Given the description of an element on the screen output the (x, y) to click on. 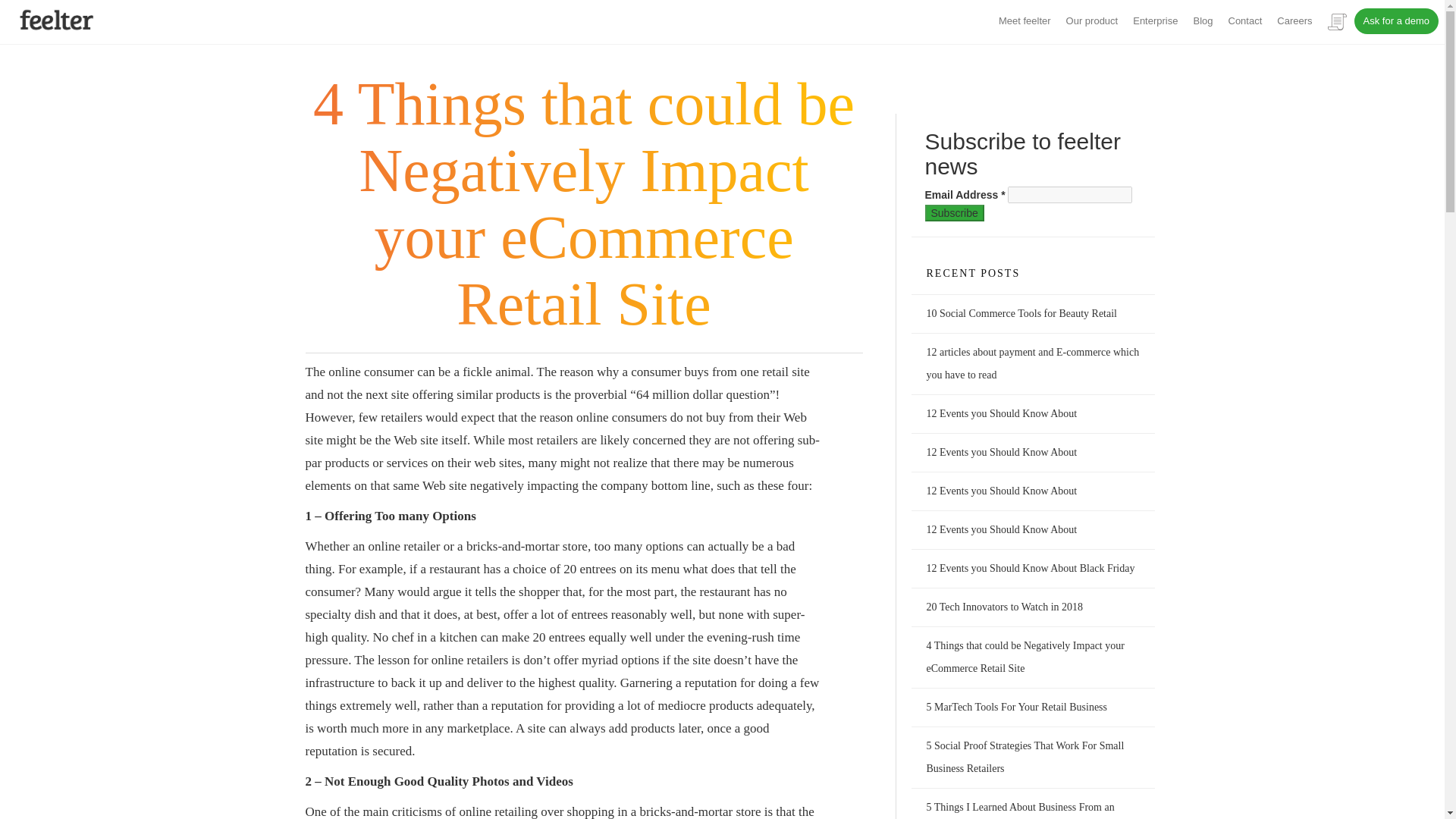
20 Tech Innovators to Watch in 2018 (1004, 606)
Meet feelter (1024, 20)
Enterprise (1155, 20)
12 Events you Should Know About (1001, 490)
Our product (1091, 20)
5 MarTech Tools For Your Retail Business (1017, 706)
Subscribe (954, 212)
Contact (1245, 20)
Careers (1294, 20)
5 Things I Learned About Business From an Asian Monastery (1020, 810)
Contact (1245, 20)
